Given the description of an element on the screen output the (x, y) to click on. 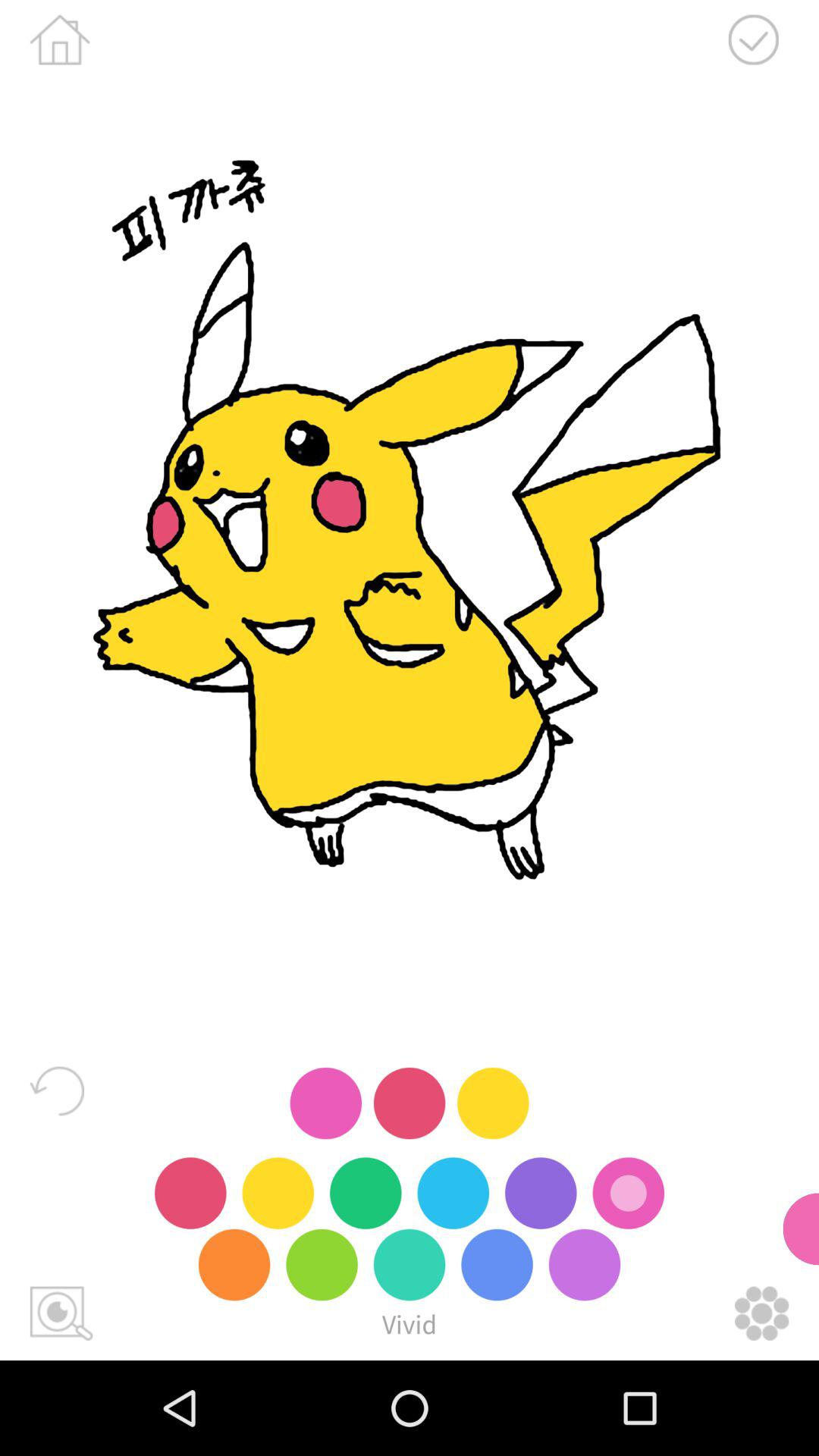
option (761, 1313)
